Given the description of an element on the screen output the (x, y) to click on. 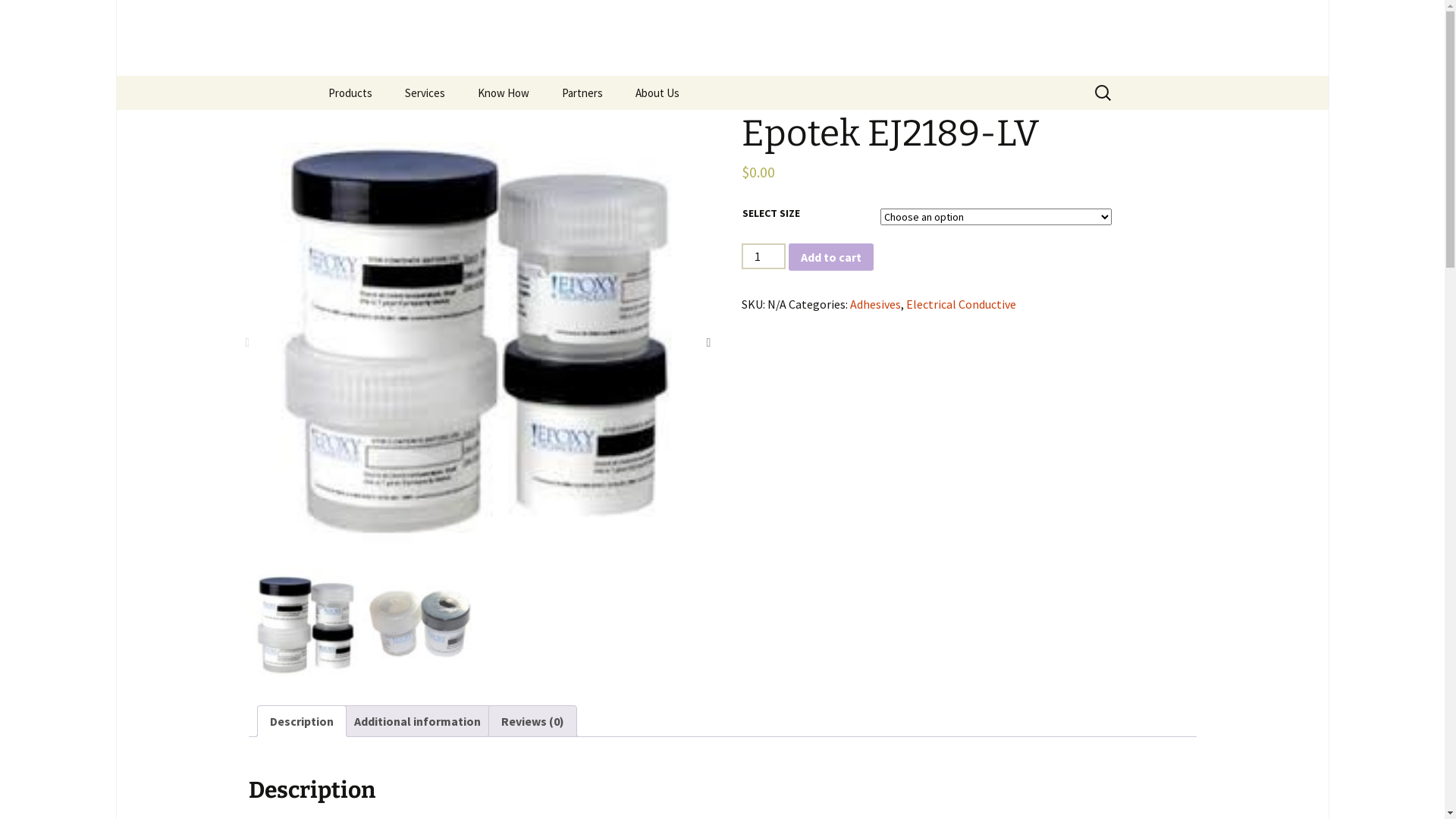
Products Element type: text (349, 92)
Clean Room Solutions Element type: text (538, 126)
Additional information Element type: text (416, 721)
Description Element type: text (301, 721)
Know How Element type: text (503, 92)
Services Element type: text (424, 92)
Adhesives Element type: text (874, 303)
About Us Element type: text (657, 92)
Cleanroom Element type: text (388, 126)
Add to cart Element type: text (830, 256)
Previous Element type: text (245, 338)
Partners Element type: text (581, 92)
Search Element type: text (34, 15)
Epotek Product#5 Element type: hover (475, 338)
Reviews (0) Element type: text (531, 721)
Cleanroom & Life Science Element type: text (621, 126)
Electrical Conductive Element type: text (960, 303)
Next Element type: text (706, 338)
Search Element type: text (18, 16)
